Given the description of an element on the screen output the (x, y) to click on. 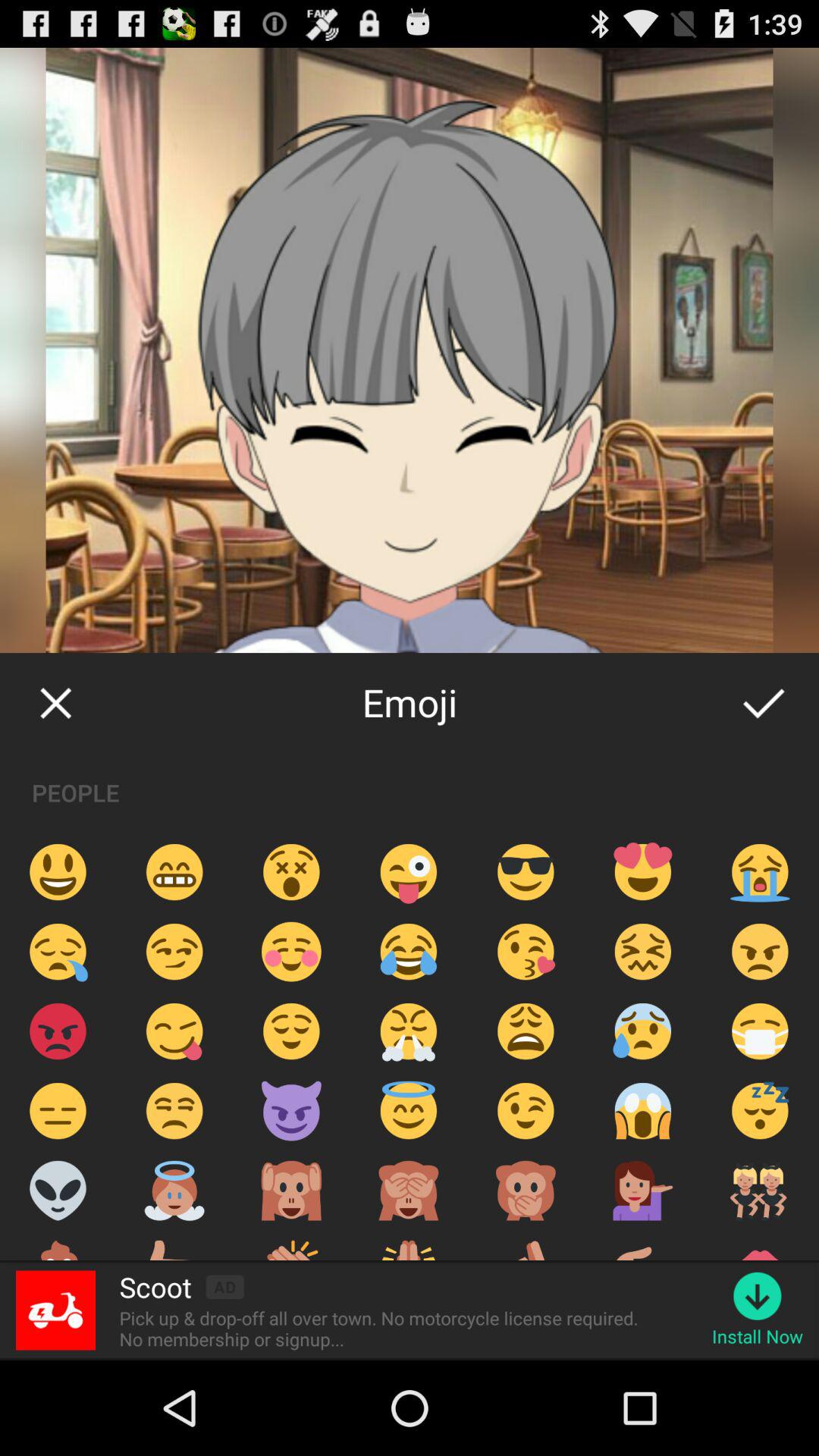
turn on icon to the left of emoji (55, 702)
